Given the description of an element on the screen output the (x, y) to click on. 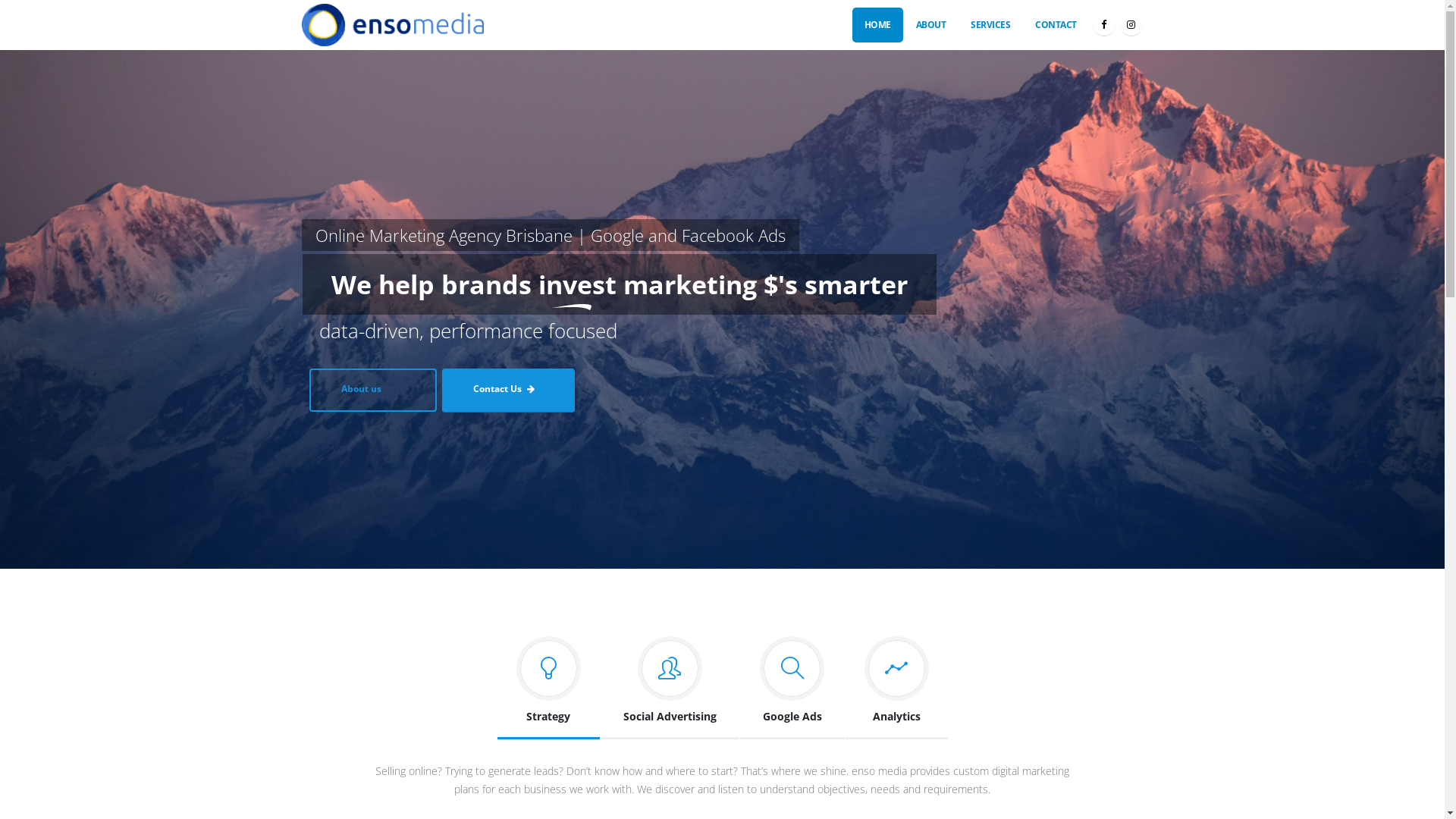
Strategy Element type: text (548, 684)
HOME Element type: text (877, 24)
Google Ads Element type: text (792, 684)
Facebook Element type: hover (1103, 24)
Social Advertising Element type: text (669, 684)
Instagram Element type: hover (1130, 24)
ABOUT Element type: text (930, 24)
SERVICES Element type: text (990, 24)
CONTACT Element type: text (1055, 24)
Analytics Element type: text (895, 684)
